Given the description of an element on the screen output the (x, y) to click on. 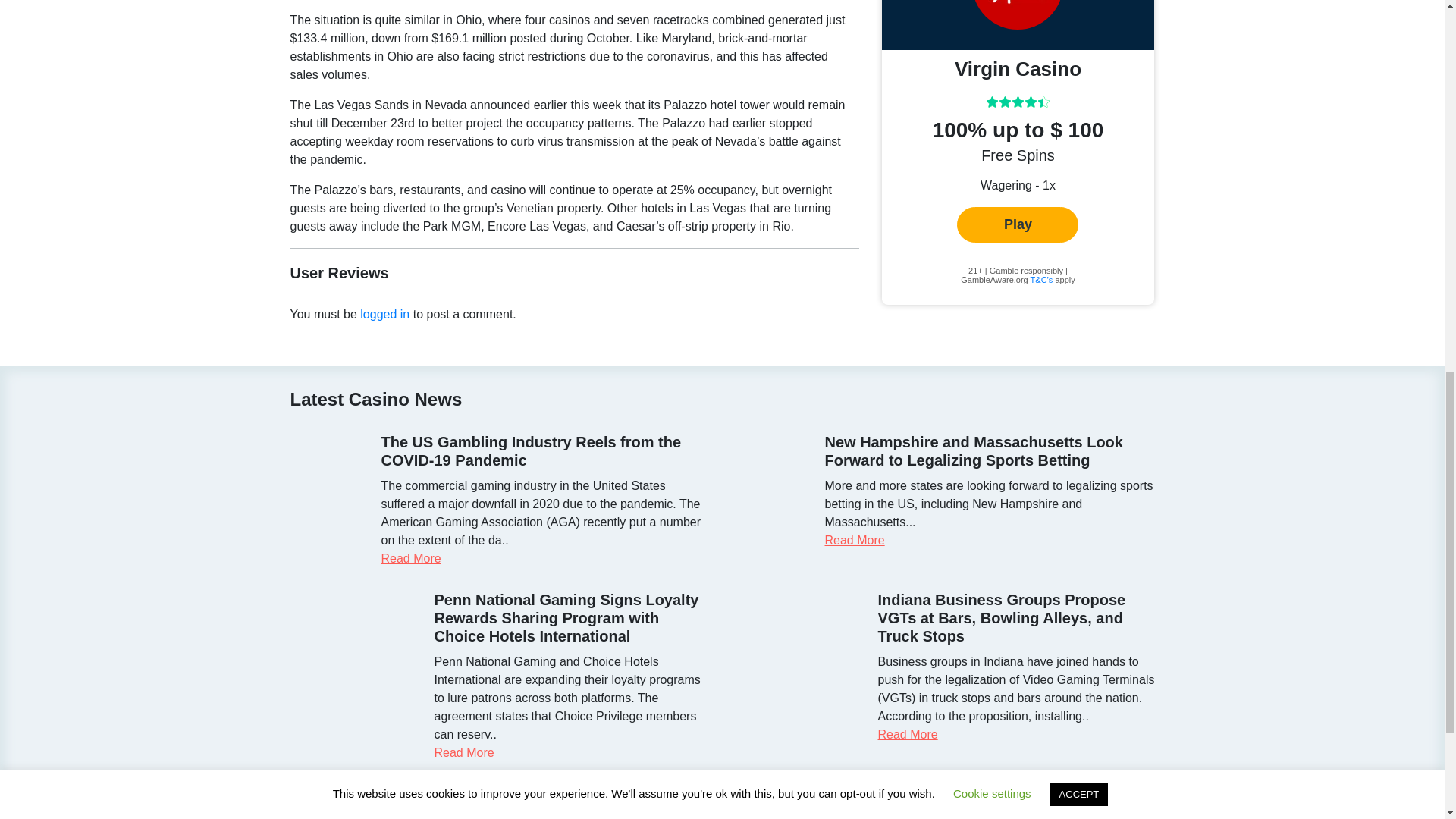
Read More (907, 734)
Read More (855, 540)
logged in (384, 314)
Read More (463, 752)
Read More (410, 558)
